Given the description of an element on the screen output the (x, y) to click on. 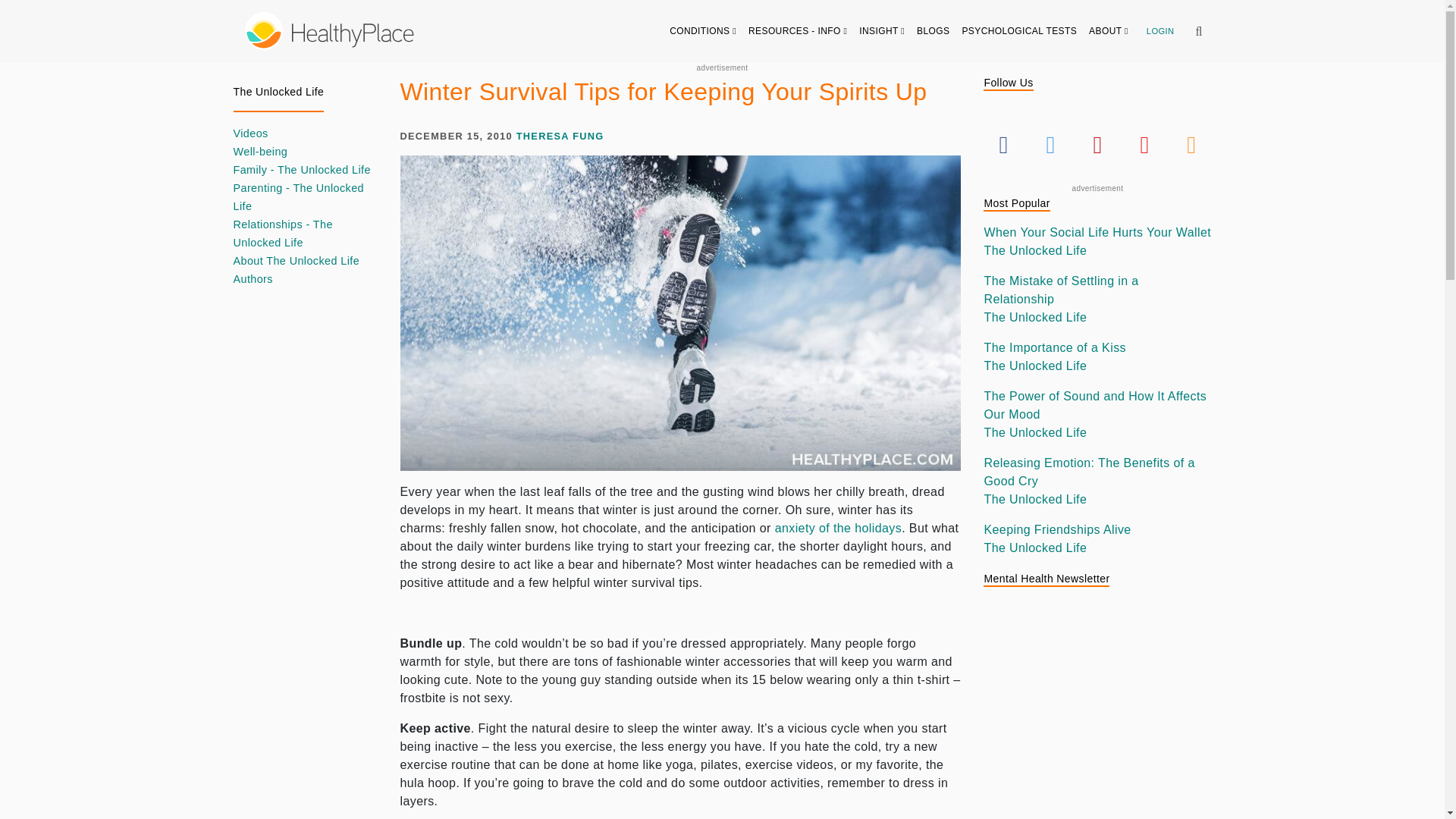
RESOURCES - INFO (797, 31)
CONDITIONS (702, 31)
INSIGHT (882, 31)
